Given the description of an element on the screen output the (x, y) to click on. 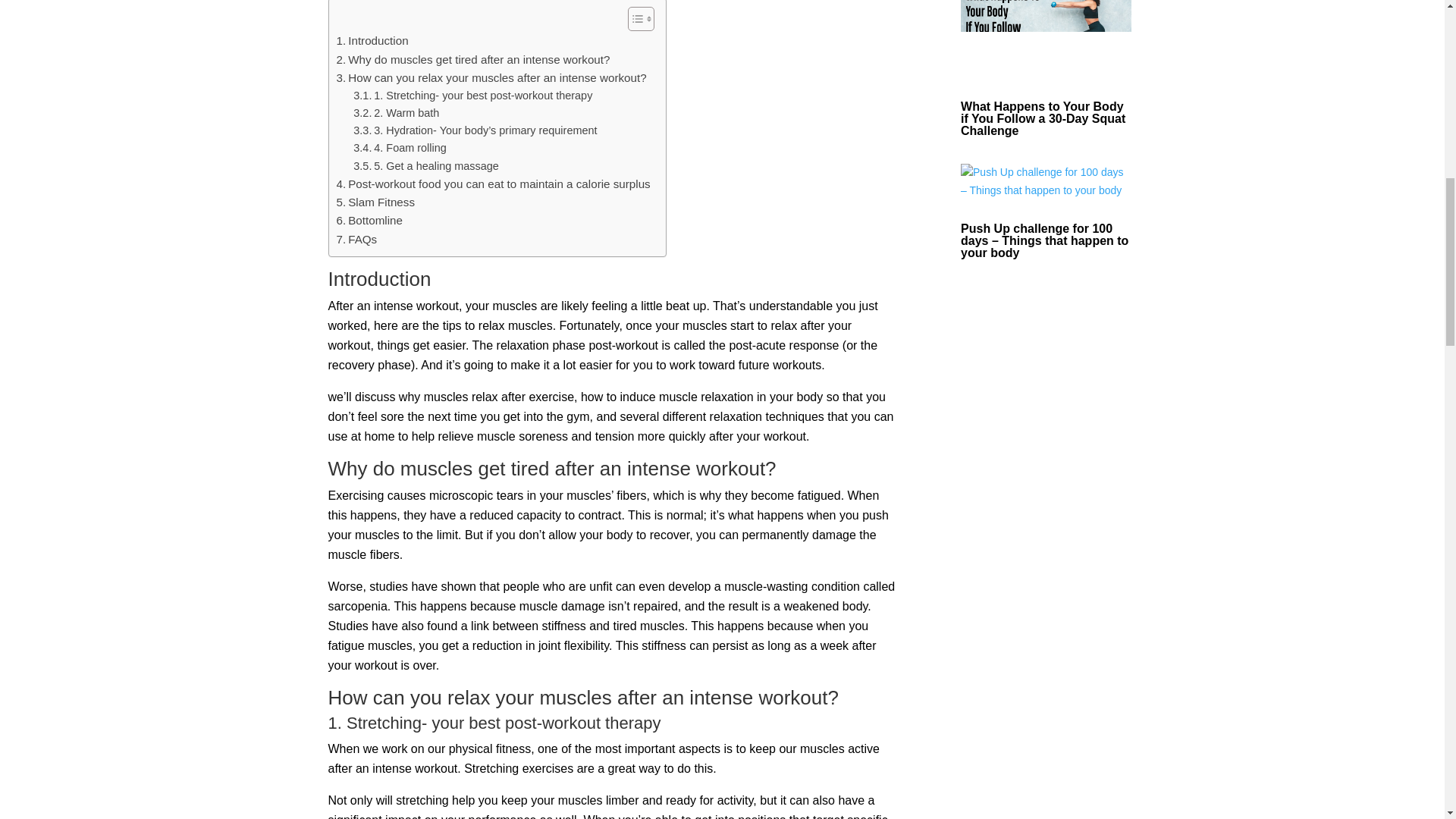
FAQs (356, 239)
FAQs (356, 239)
Post-workout food you can eat to maintain a calorie surplus (493, 184)
Post-workout food you can eat to maintain a calorie surplus (493, 184)
Slam Fitness (375, 202)
Bottomline (369, 220)
5. Get a healing massage (426, 166)
1. Stretching- your best post-workout therapy (472, 95)
Introduction (372, 40)
